Given the description of an element on the screen output the (x, y) to click on. 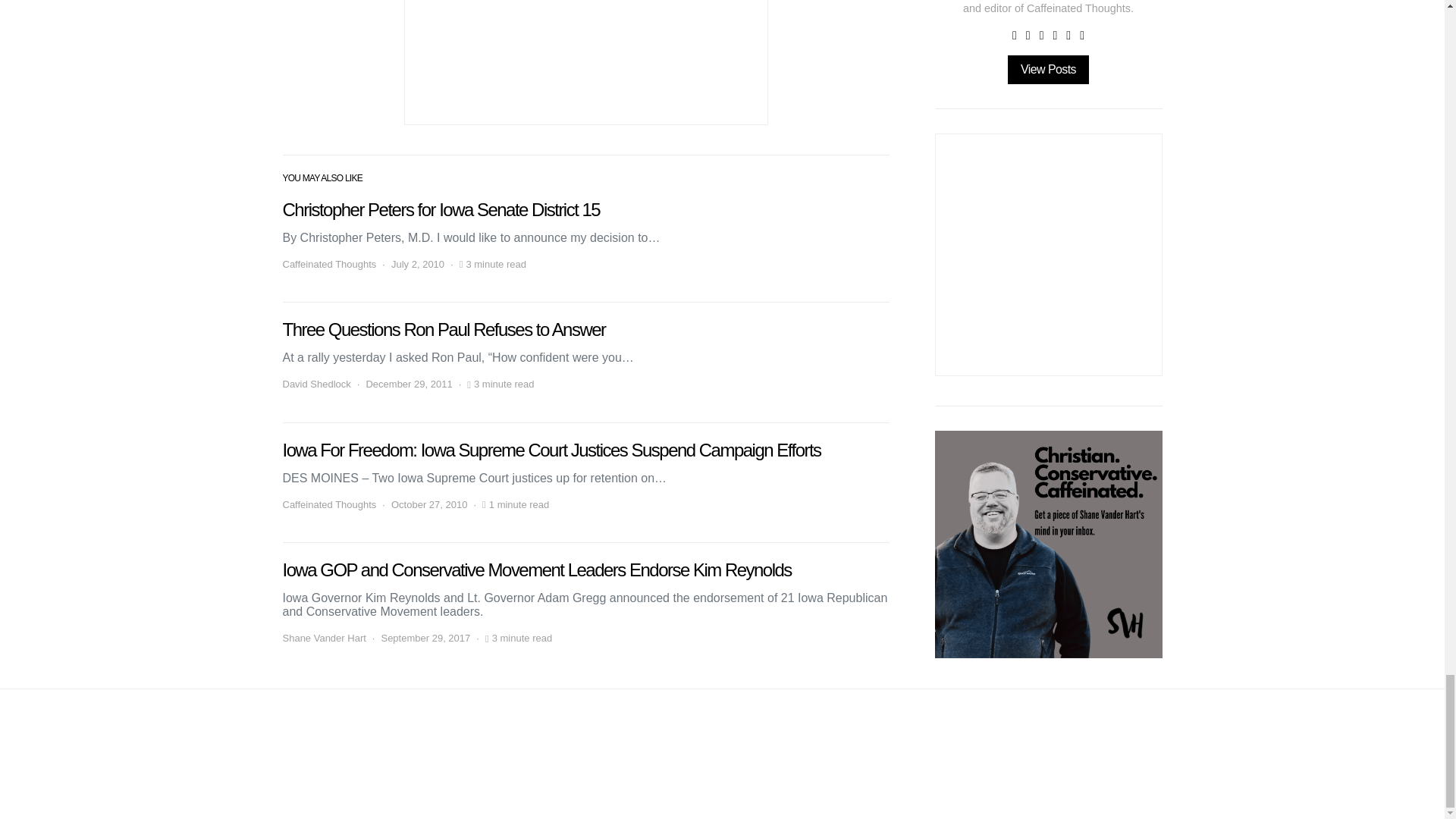
View all posts by Caffeinated Thoughts (328, 264)
View all posts by Caffeinated Thoughts (328, 504)
View all posts by Shane Vander Hart (323, 638)
View all posts by David Shedlock (316, 384)
